Given the description of an element on the screen output the (x, y) to click on. 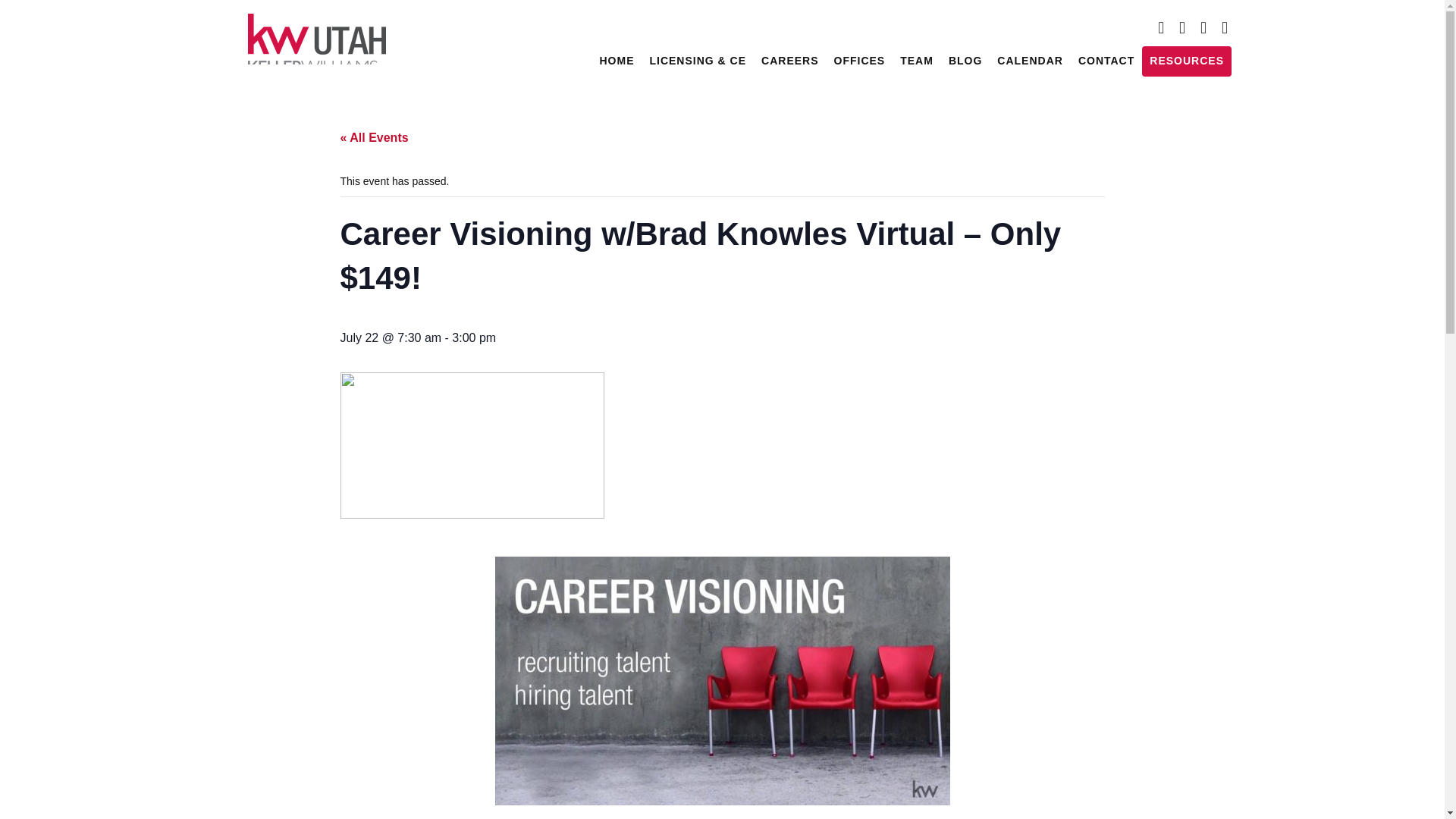
OFFICES (860, 60)
TEAM (916, 60)
CONTACT (1105, 60)
CAREERS (789, 60)
RESOURCES (1186, 60)
BLOG (965, 60)
HOME (616, 60)
CALENDAR (1030, 60)
